Given the description of an element on the screen output the (x, y) to click on. 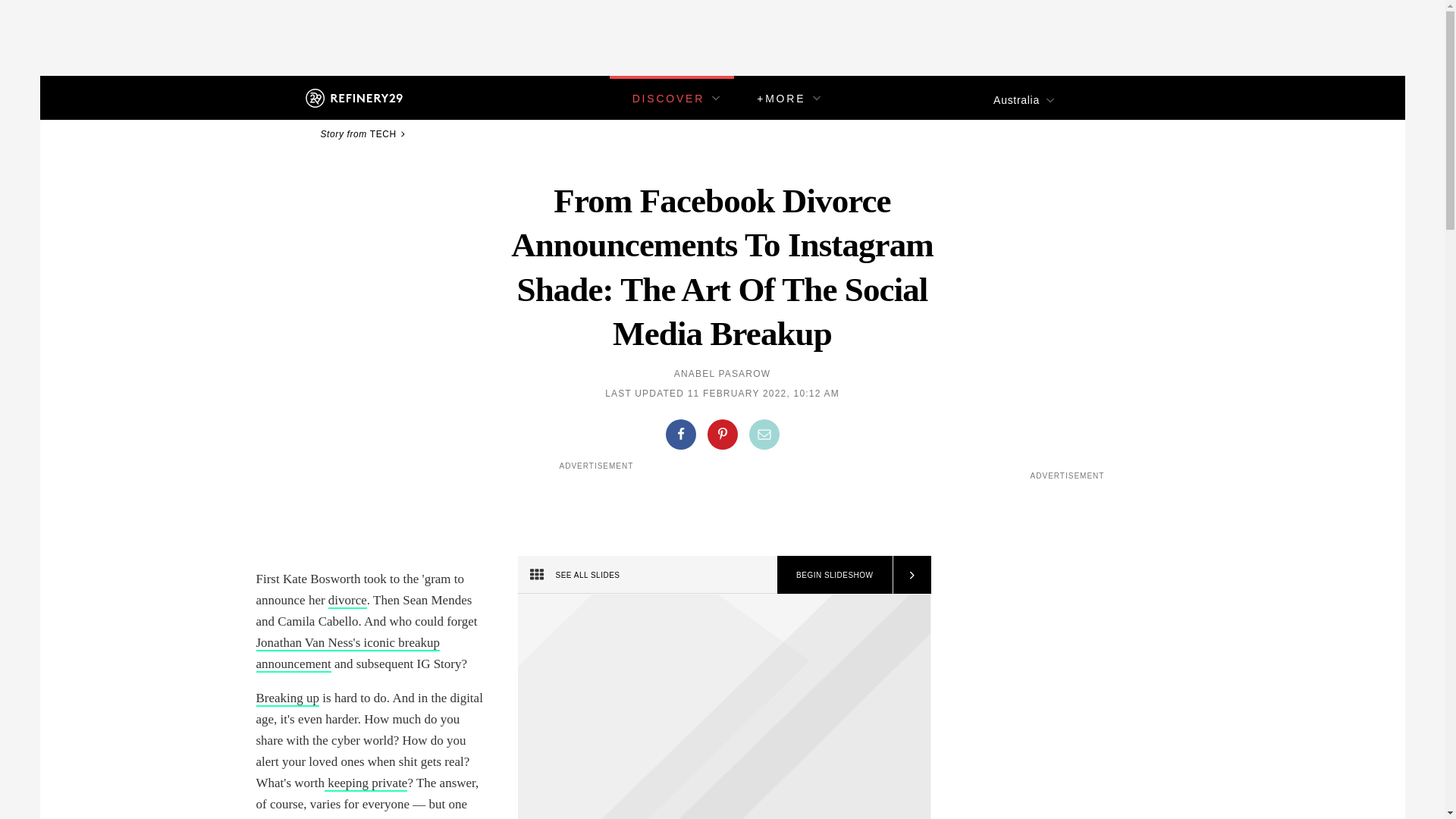
Refinery29 (352, 97)
Jonathan Van Ness's iconic breakup announcement (348, 653)
keeping private (365, 783)
11 FEBRUARY 2022, 10:12 AM (763, 393)
Breaking up (288, 698)
divorce (347, 600)
BEGIN SLIDESHOW (834, 574)
Story from TECH (364, 133)
Share on Pinterest (721, 434)
Next Slide (910, 574)
